Given the description of an element on the screen output the (x, y) to click on. 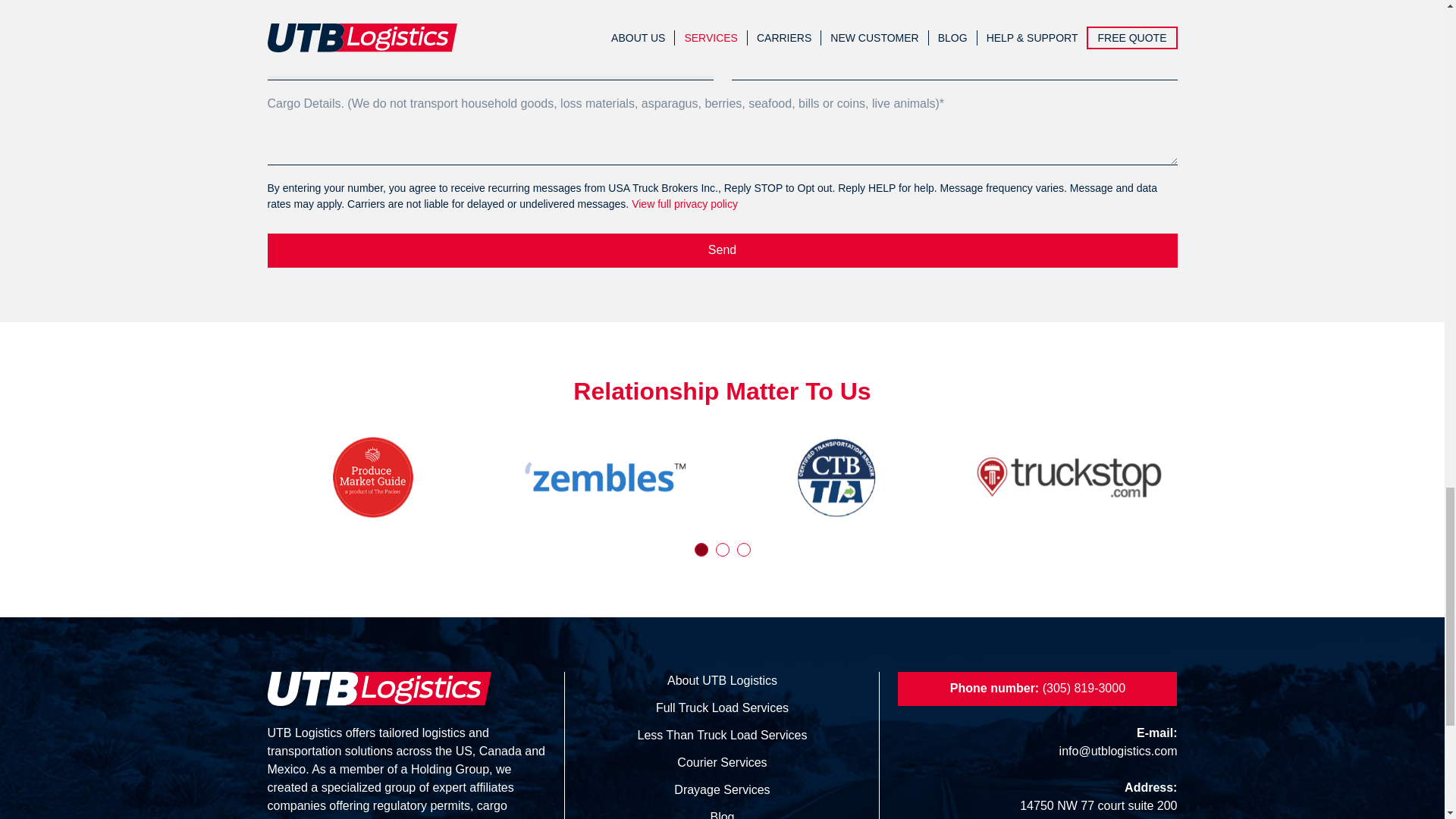
Send (721, 250)
Reefer Trucking (489, 65)
Send (721, 250)
View full privacy policy (684, 203)
